Given the description of an element on the screen output the (x, y) to click on. 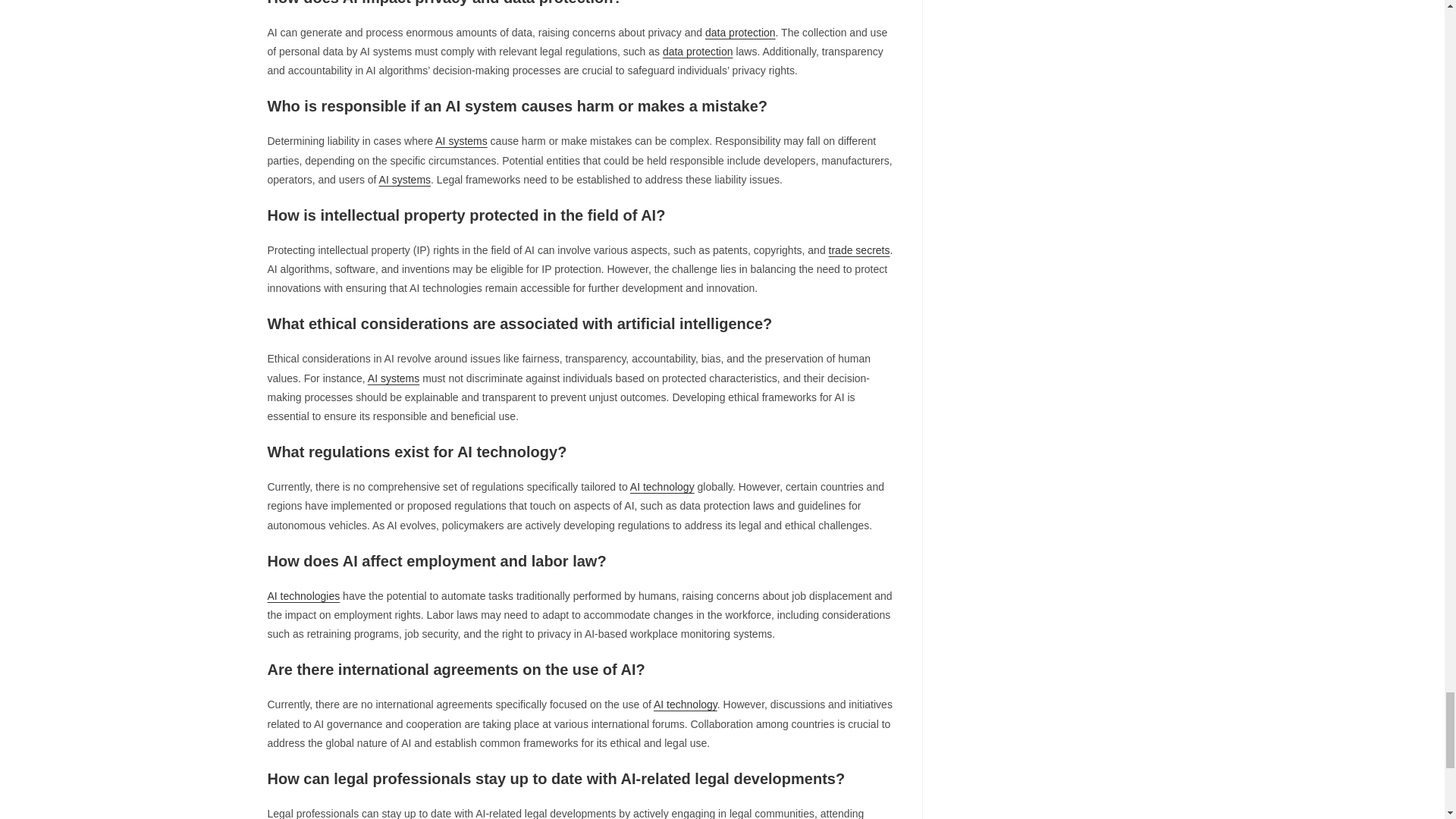
AI systems (404, 179)
data protection (740, 32)
AI systems (460, 141)
AI technology (685, 704)
AI systems (393, 378)
data protection (697, 51)
trade secrets (858, 250)
AI technologies (302, 595)
AI technology (662, 486)
